Given the description of an element on the screen output the (x, y) to click on. 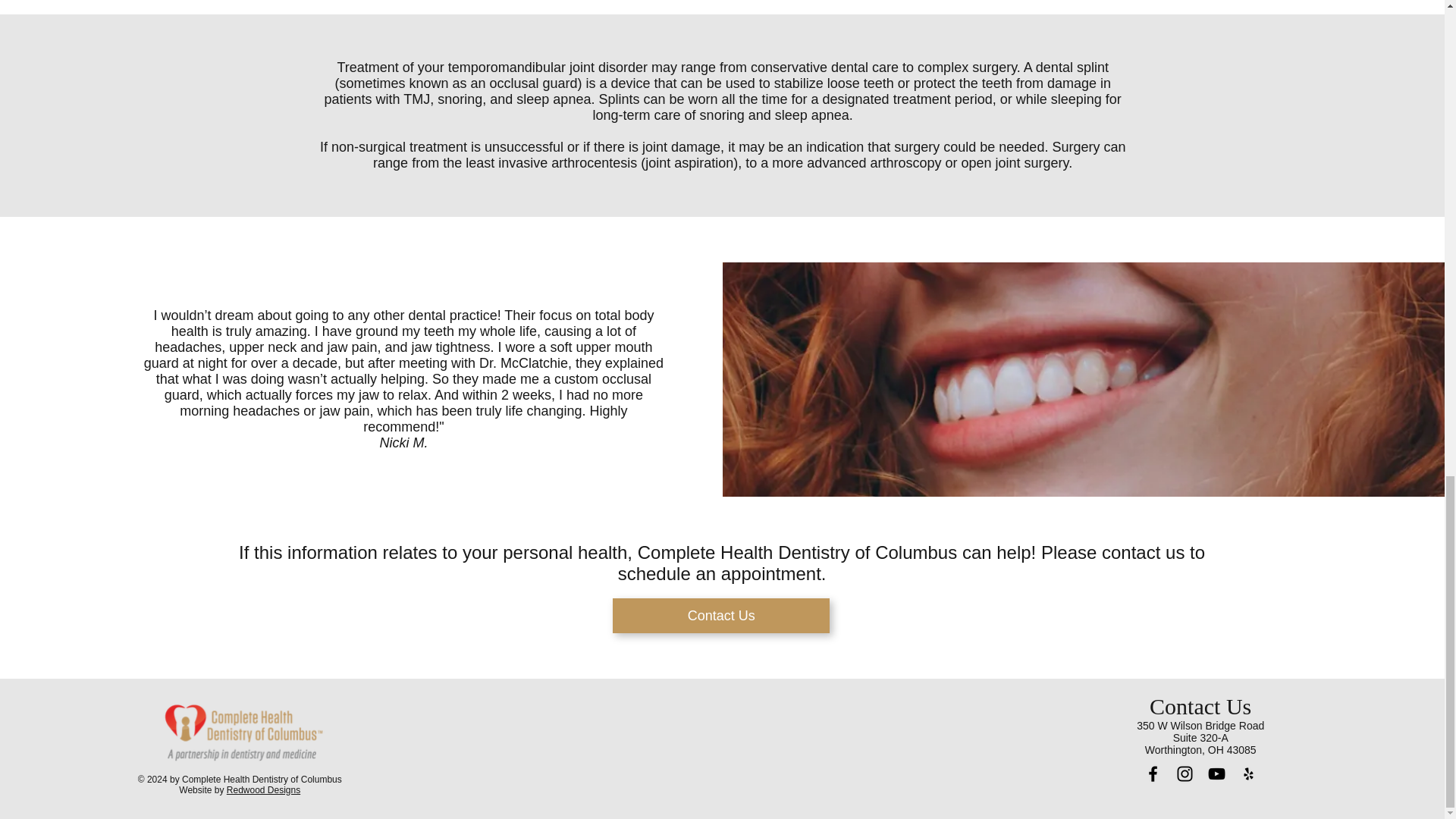
Contact Us (720, 615)
